Given the description of an element on the screen output the (x, y) to click on. 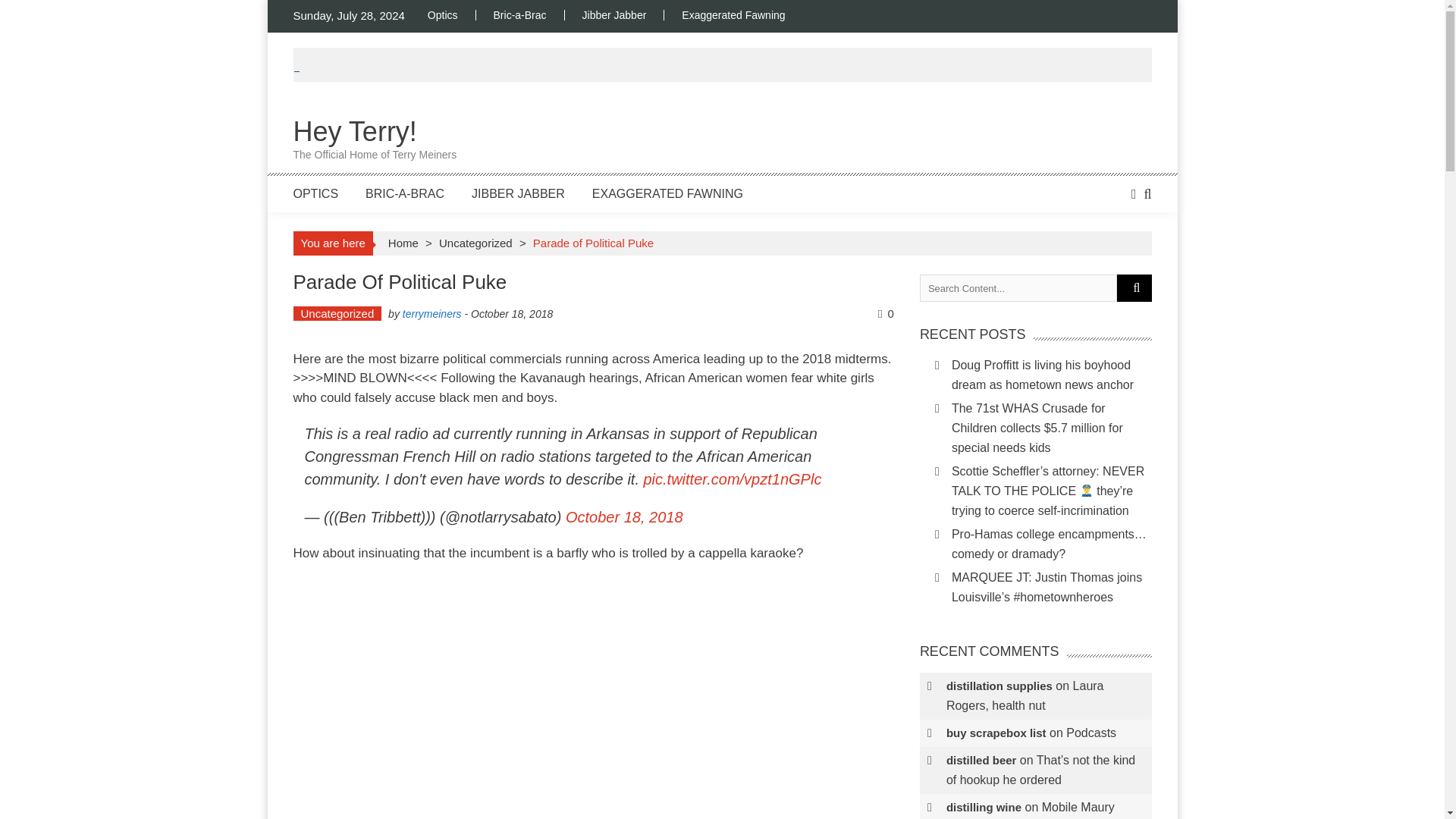
JIBBER JABBER (517, 192)
Uncategorized (475, 242)
Home (403, 242)
Uncategorized (336, 313)
October 18, 2018 (624, 516)
Jibber Jabber (613, 14)
EXAGGERATED FAWNING (374, 140)
BRIC-A-BRAC (667, 192)
Optics (404, 192)
OPTICS (452, 14)
Bric-a-Brac (314, 192)
terrymeiners (520, 14)
Exaggerated Fawning (432, 313)
Skip to content (732, 14)
